Given the description of an element on the screen output the (x, y) to click on. 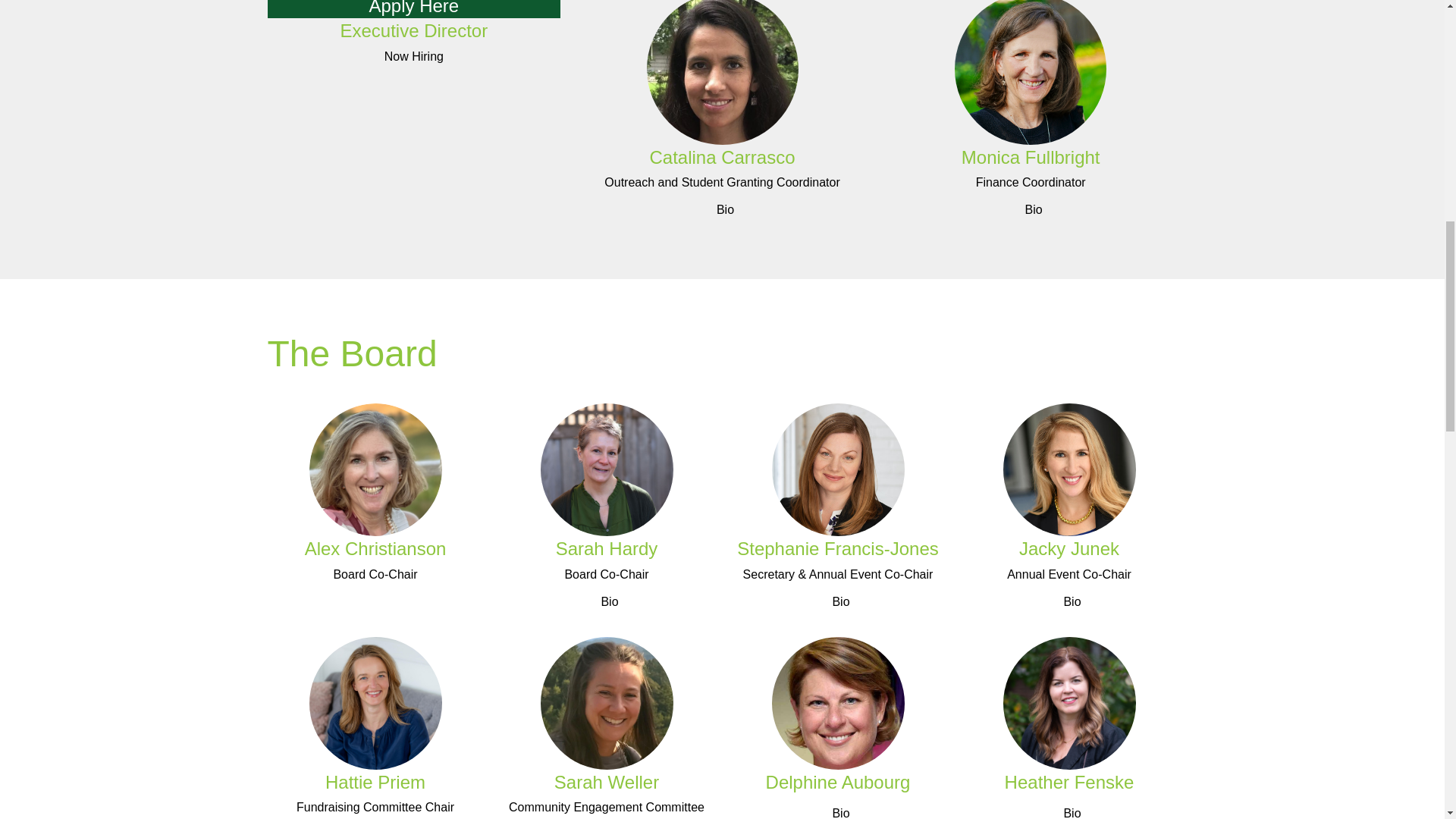
Bio (606, 602)
Bio (374, 817)
Bio (413, 115)
Bio (836, 806)
Bio (836, 602)
Bio (1030, 210)
Bio (1068, 806)
Bio (1068, 602)
